Given the description of an element on the screen output the (x, y) to click on. 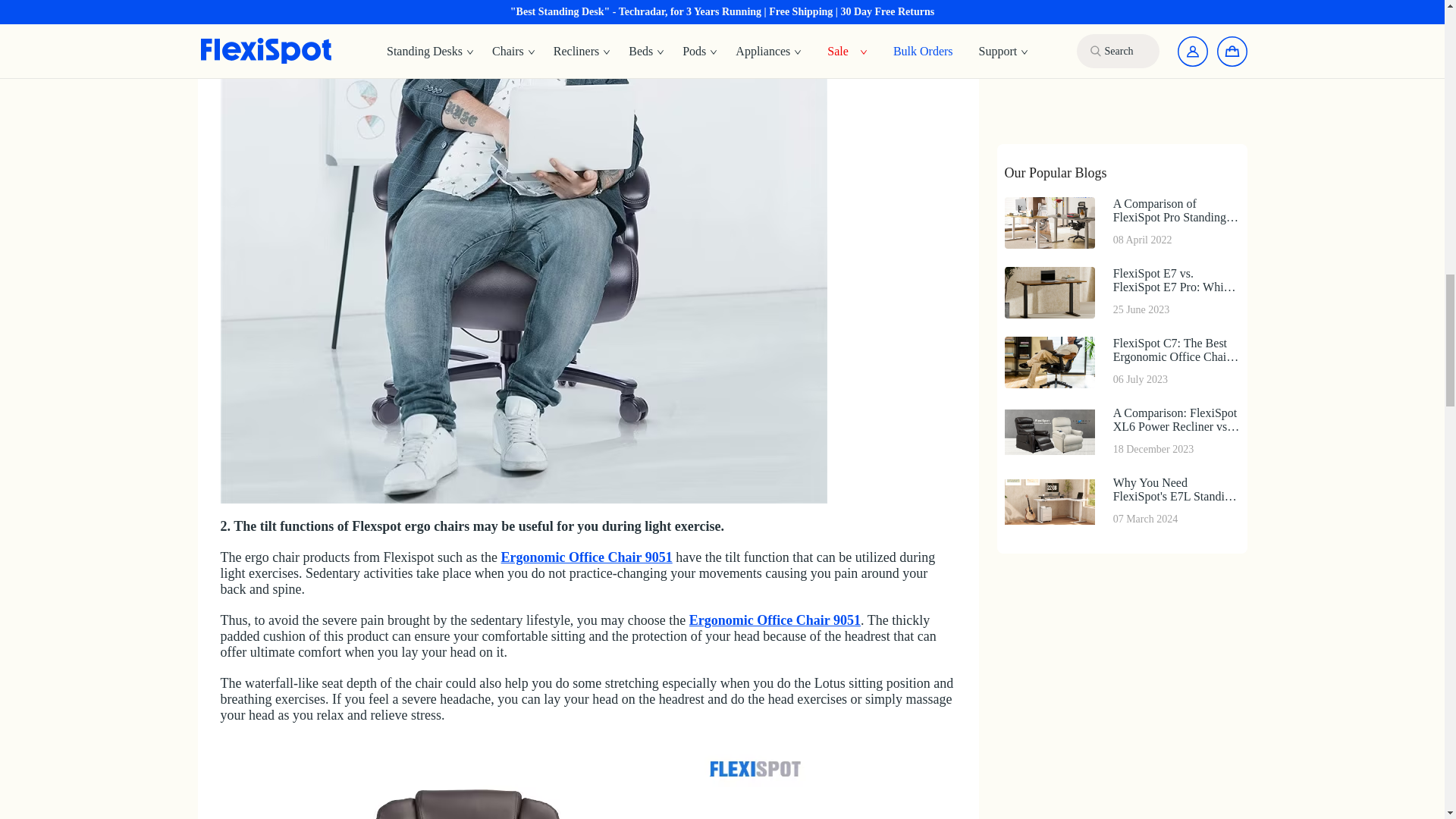
Ergonomic Office Chair 9051 (774, 620)
Office Massage Chair Ergonomic Desk Chair 5080 (523, 778)
Ergonomic Office Chair 9051 (586, 557)
